Given the description of an element on the screen output the (x, y) to click on. 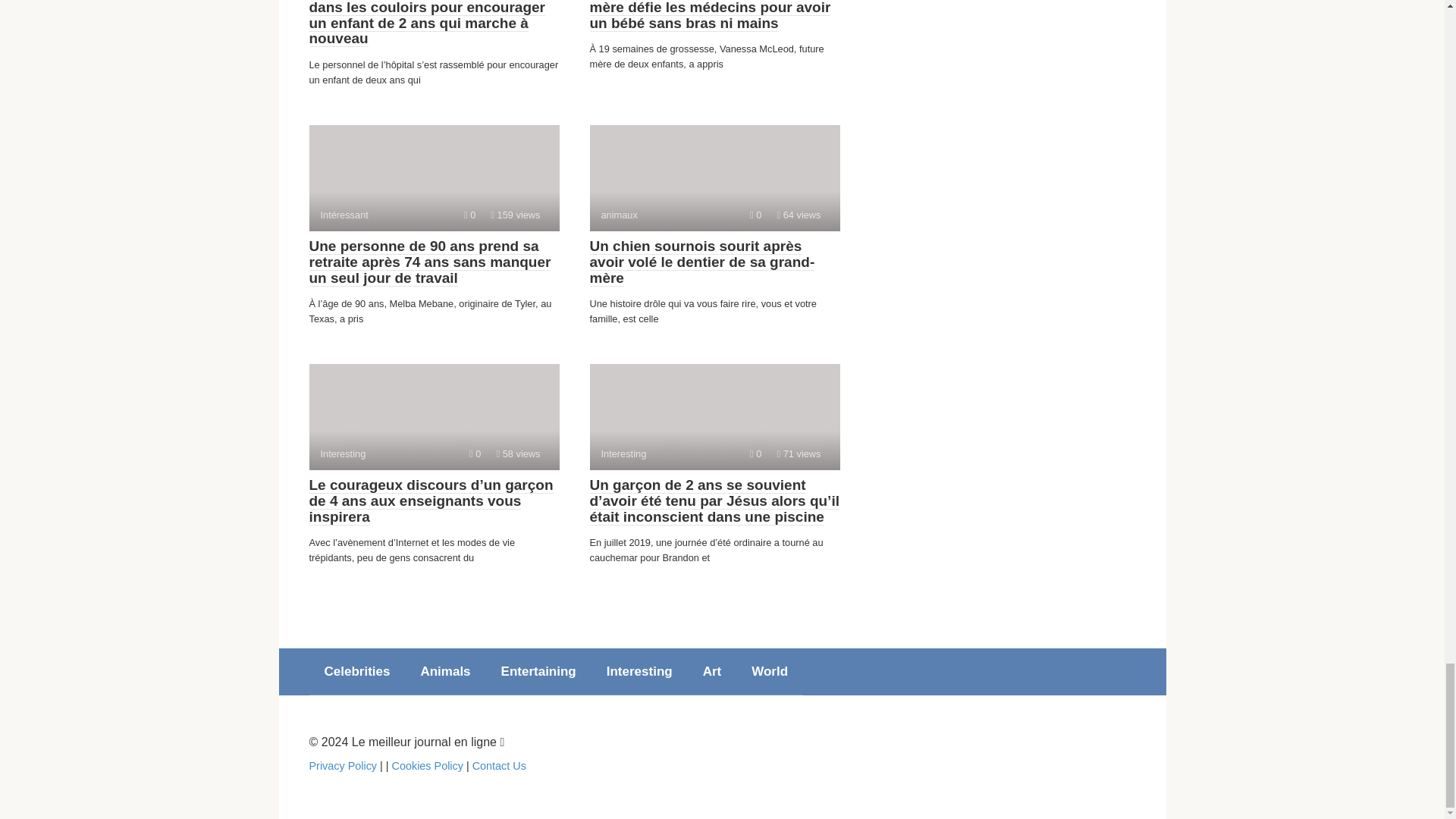
Views (518, 453)
Comments (433, 416)
Views (470, 214)
Comments (798, 214)
Comments (474, 453)
Celebrities (755, 214)
Comments (357, 671)
Views (755, 453)
Views (714, 416)
